Given the description of an element on the screen output the (x, y) to click on. 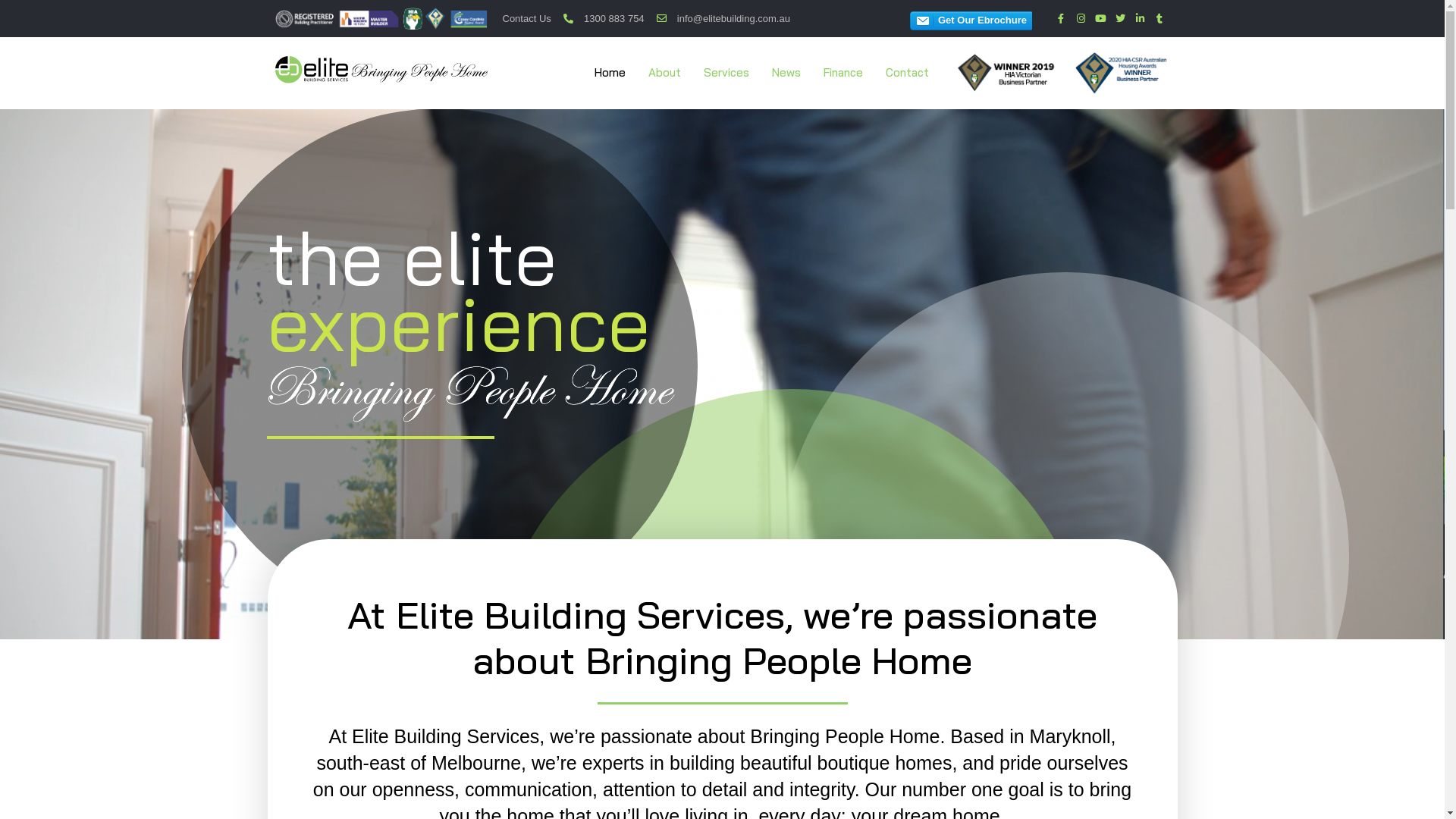
About Element type: text (664, 72)
info@elitebuilding.com.au Element type: text (723, 17)
Home Element type: text (610, 72)
Services Element type: text (726, 72)
Finance Element type: text (843, 72)
Contact Element type: text (907, 72)
Contact Us Element type: text (526, 17)
1300 883 754 Element type: text (603, 17)
Preview Element type: hover (969, 20)
News Element type: text (786, 72)
